Given the description of an element on the screen output the (x, y) to click on. 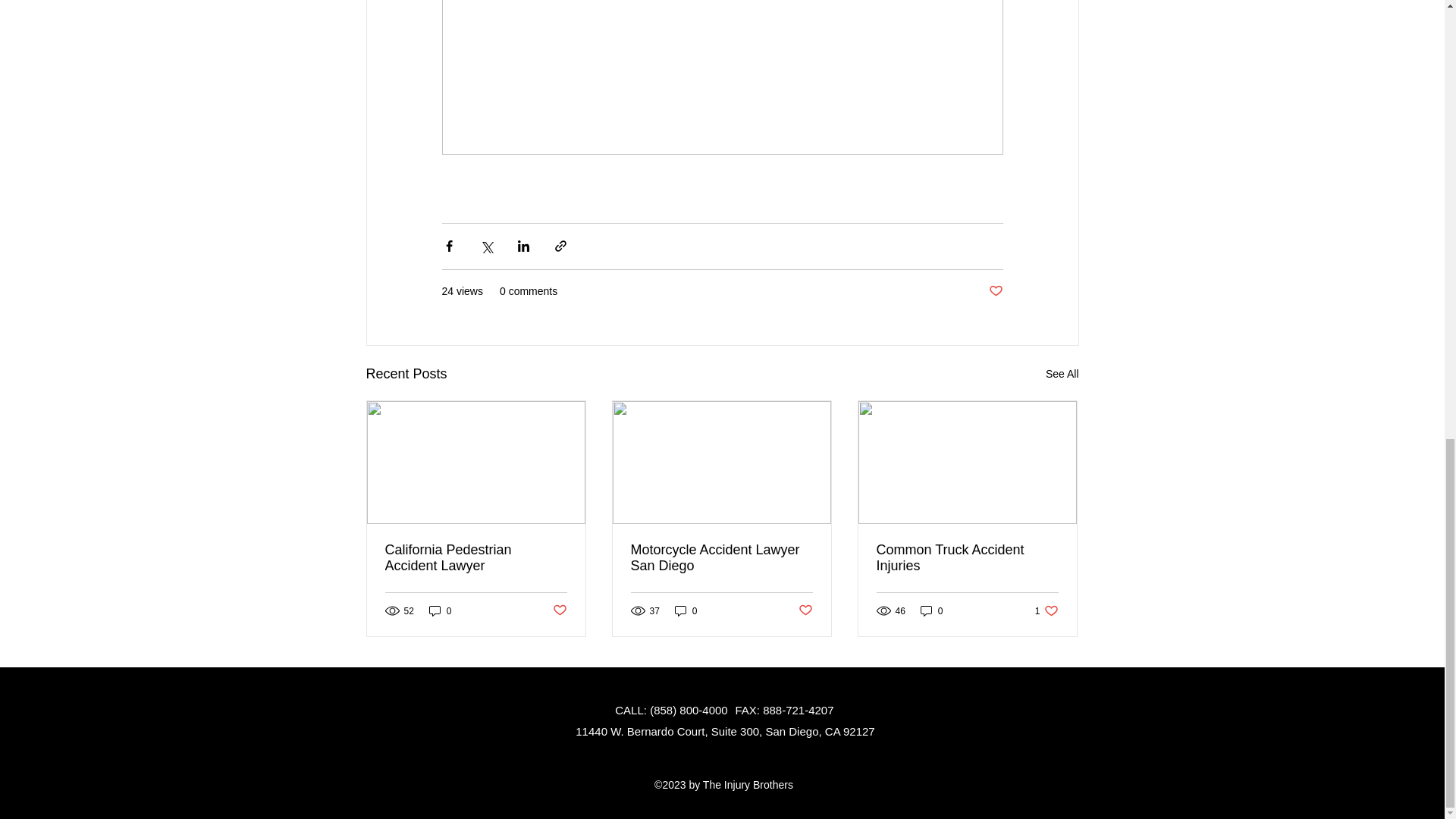
Post not marked as liked (804, 610)
Motorcycle Accident Lawyer San Diego (721, 558)
0 (685, 610)
0 (931, 610)
0 (440, 610)
Post not marked as liked (1046, 610)
Common Truck Accident Injuries (558, 610)
Post not marked as liked (967, 558)
See All (995, 291)
